Given the description of an element on the screen output the (x, y) to click on. 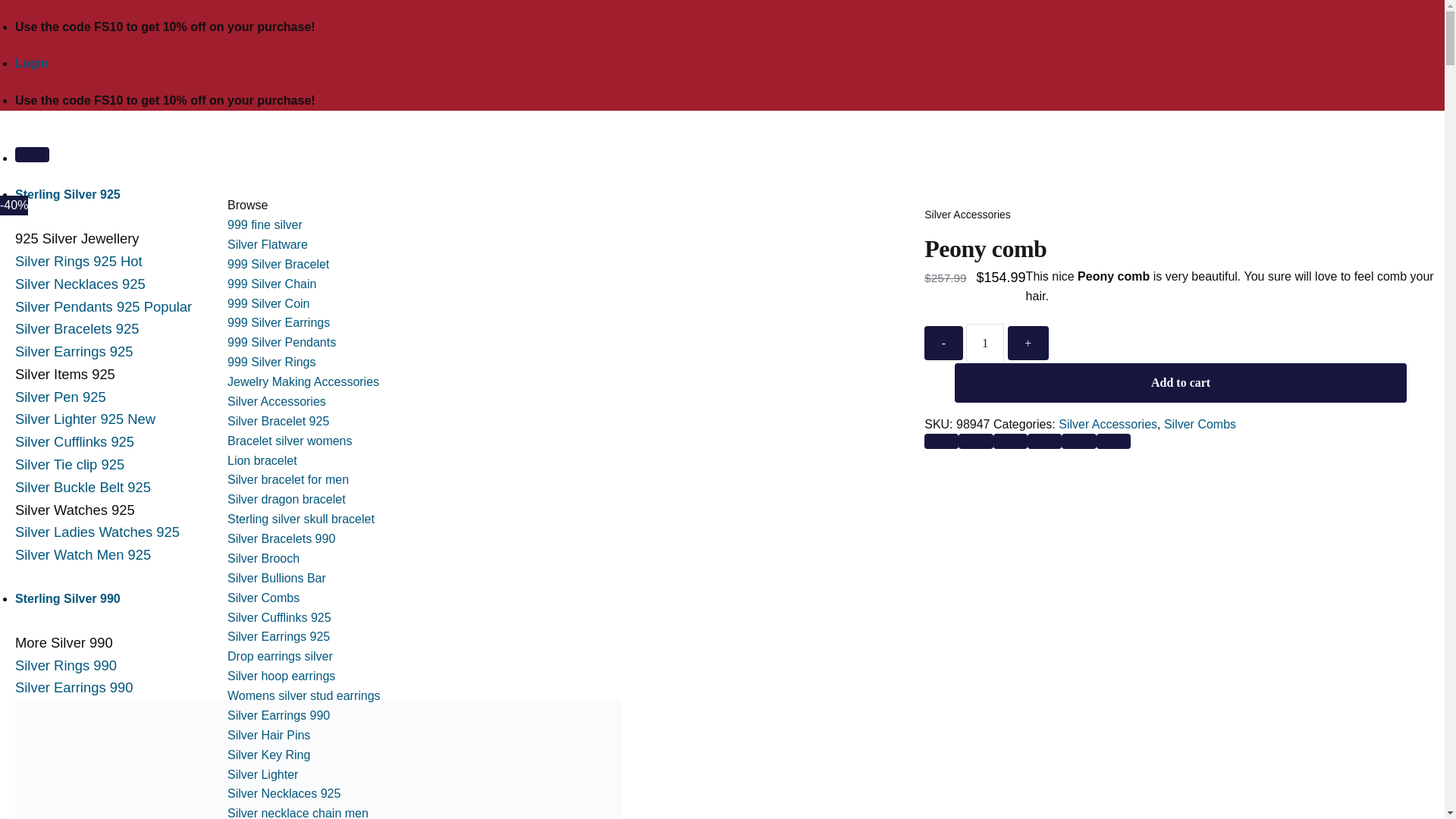
- (943, 343)
Silver Watch Men 925 (82, 554)
Email to a Friend (1044, 441)
Silver Pen 925 (60, 396)
Share on WhatsApp (941, 441)
Sterling Silver 925 (67, 194)
Silver Earrings 925 (73, 351)
Silver Necklaces 925 (79, 283)
Share on LinkedIn (1113, 441)
Share on Twitter (1009, 441)
